Given the description of an element on the screen output the (x, y) to click on. 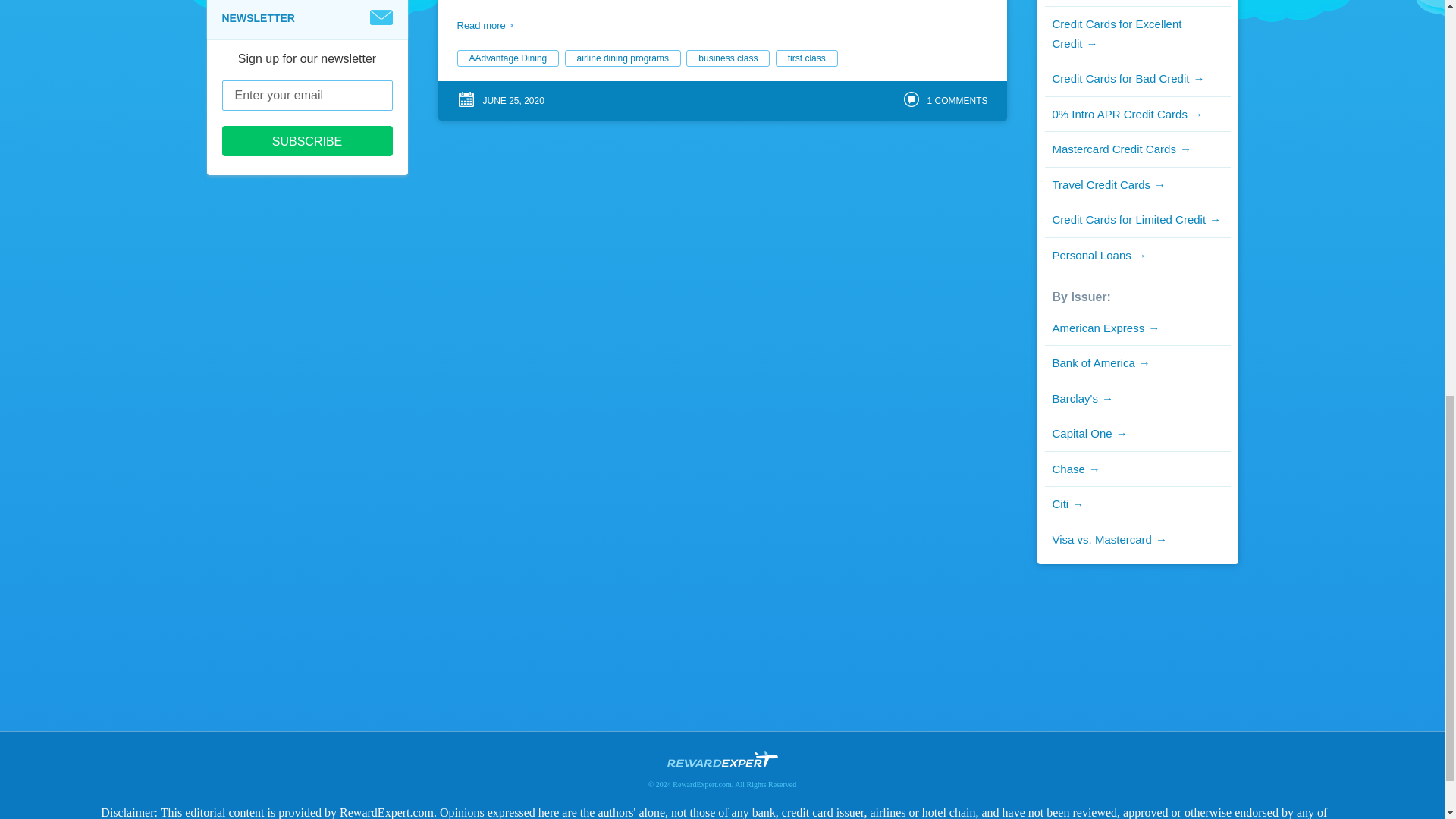
Subscribe (306, 141)
Subscribe (306, 141)
Read more (484, 25)
